Given the description of an element on the screen output the (x, y) to click on. 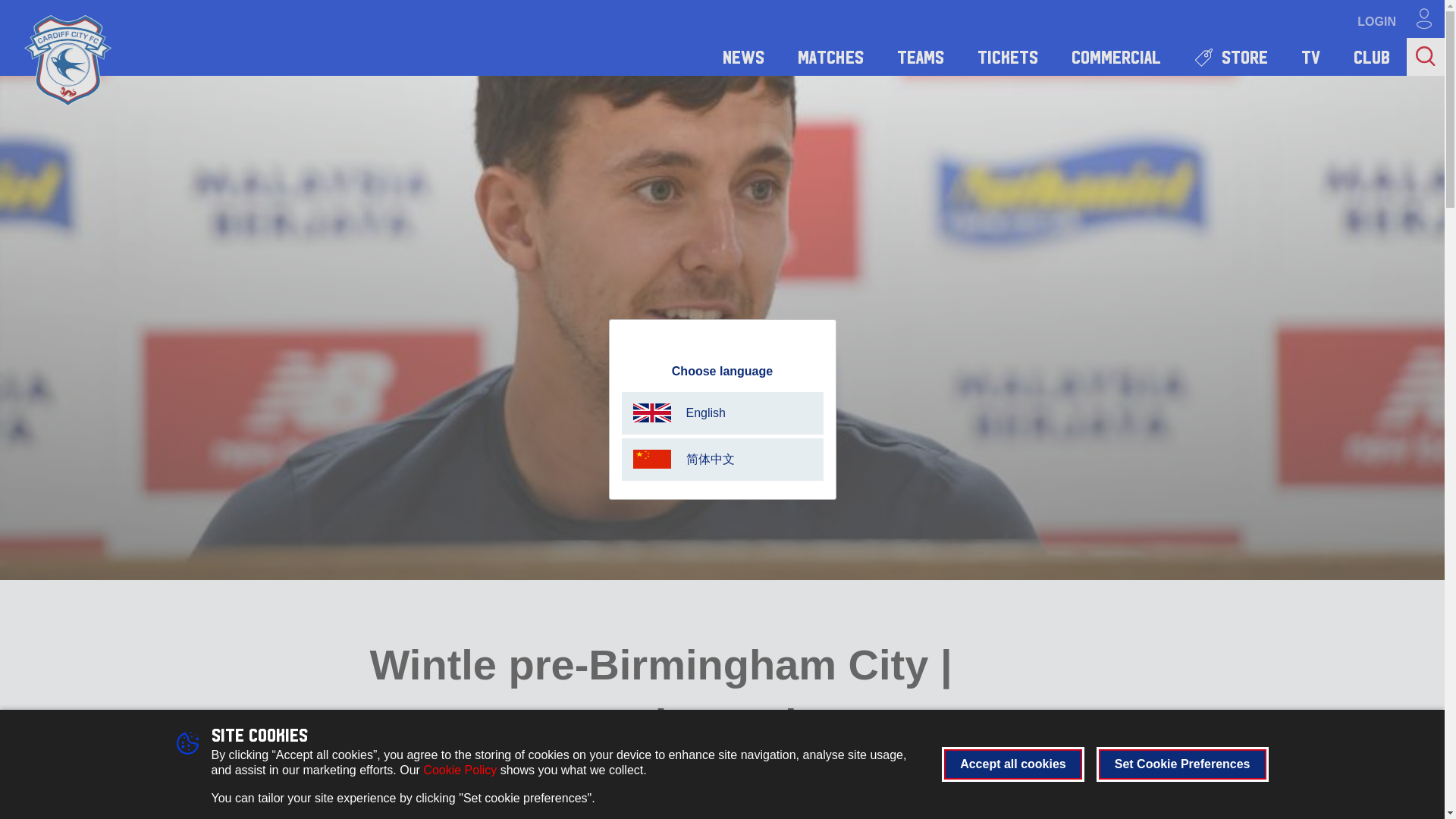
TEAMS (920, 56)
Close (823, 335)
STORE (1230, 56)
NEWS (743, 56)
TICKETS (1007, 56)
MATCHES (830, 56)
COMMERCIAL (1115, 56)
